Given the description of an element on the screen output the (x, y) to click on. 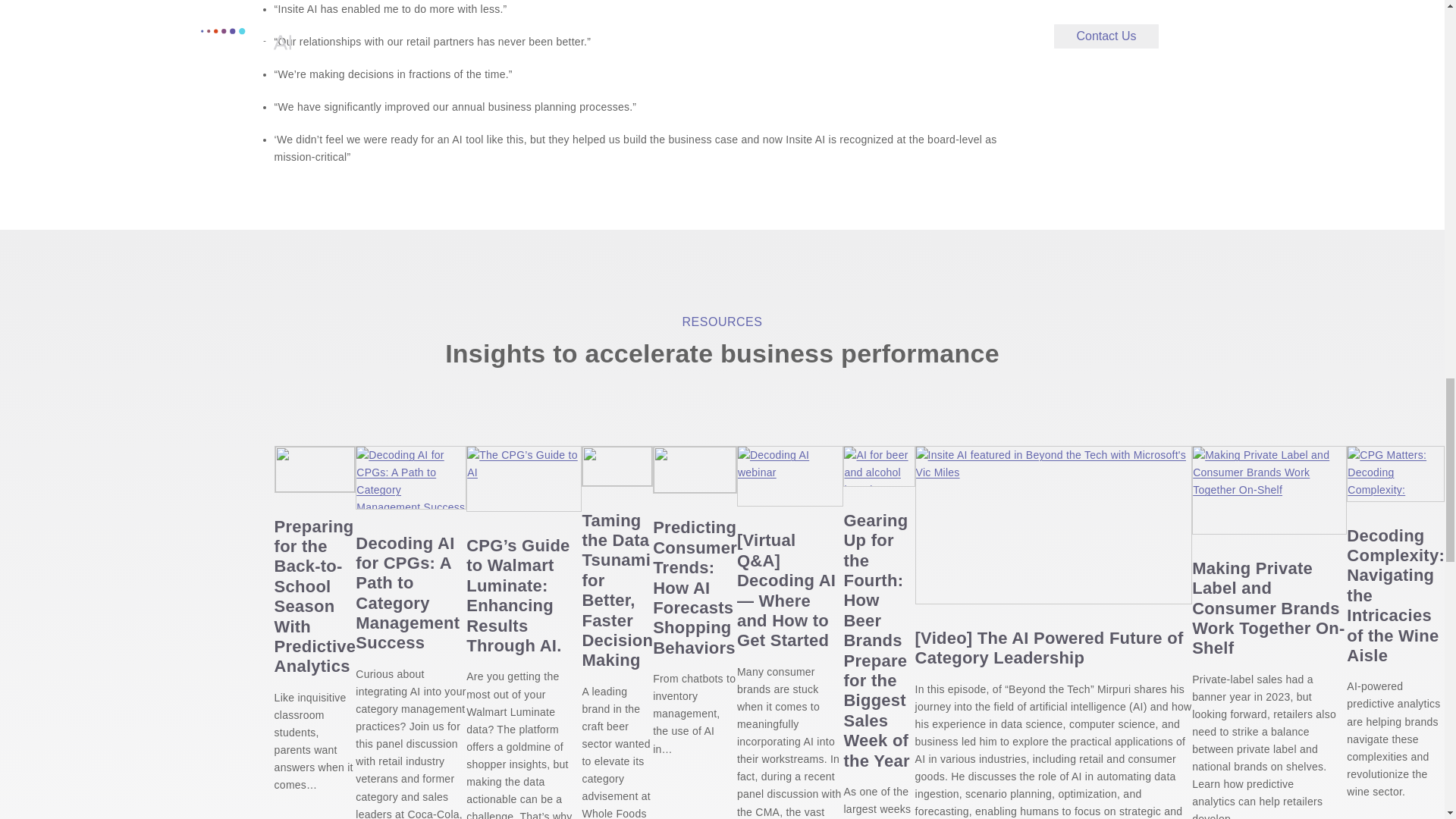
Decoding AI for CPGs: A Path to Category Management Success (410, 476)
Taming the Data Tsunami for Better, Faster Decision Making (616, 465)
